Given the description of an element on the screen output the (x, y) to click on. 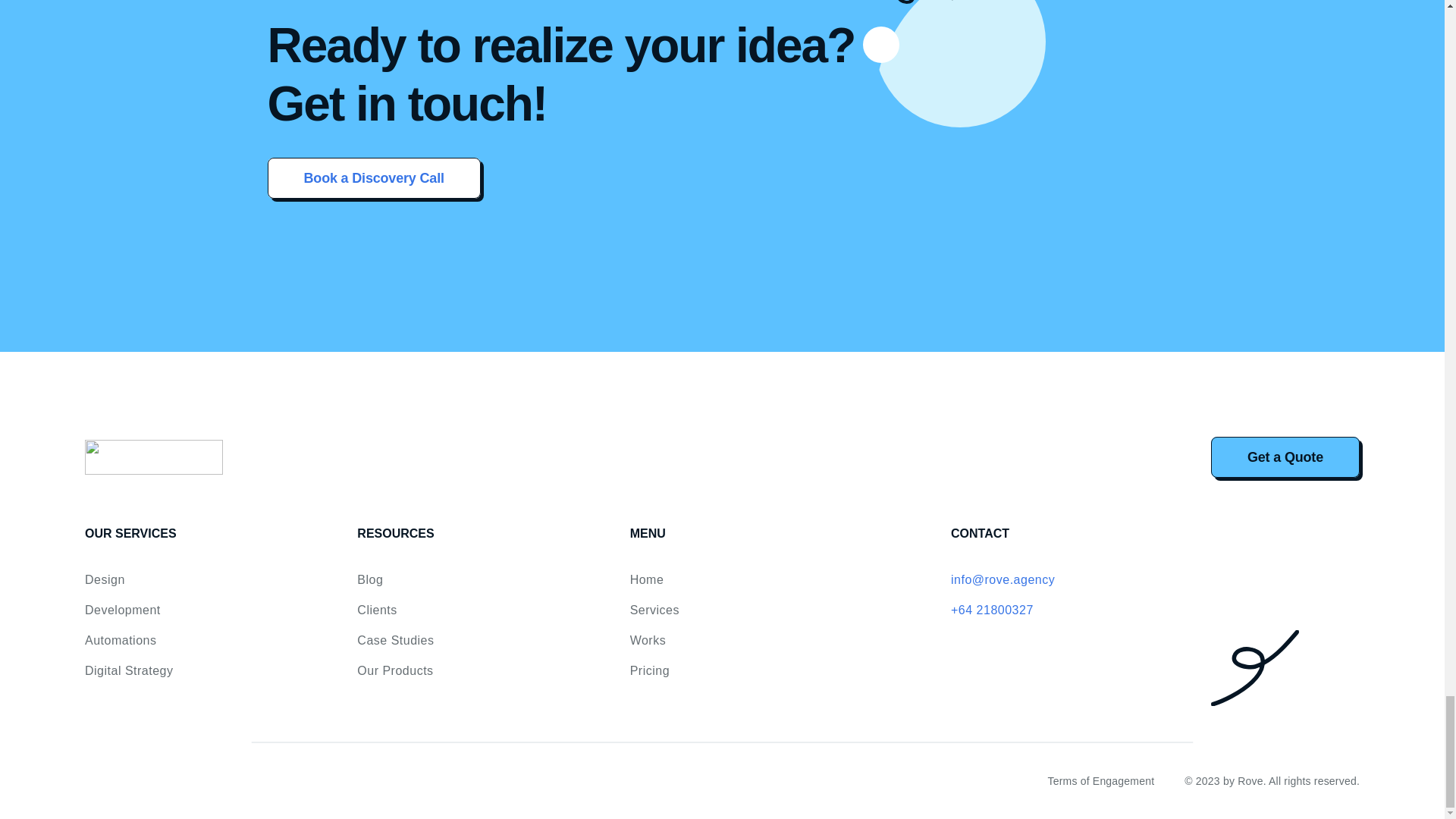
Design (104, 579)
Get a Quote (1285, 456)
Development (122, 609)
Book a Discovery Call (373, 177)
